Given the description of an element on the screen output the (x, y) to click on. 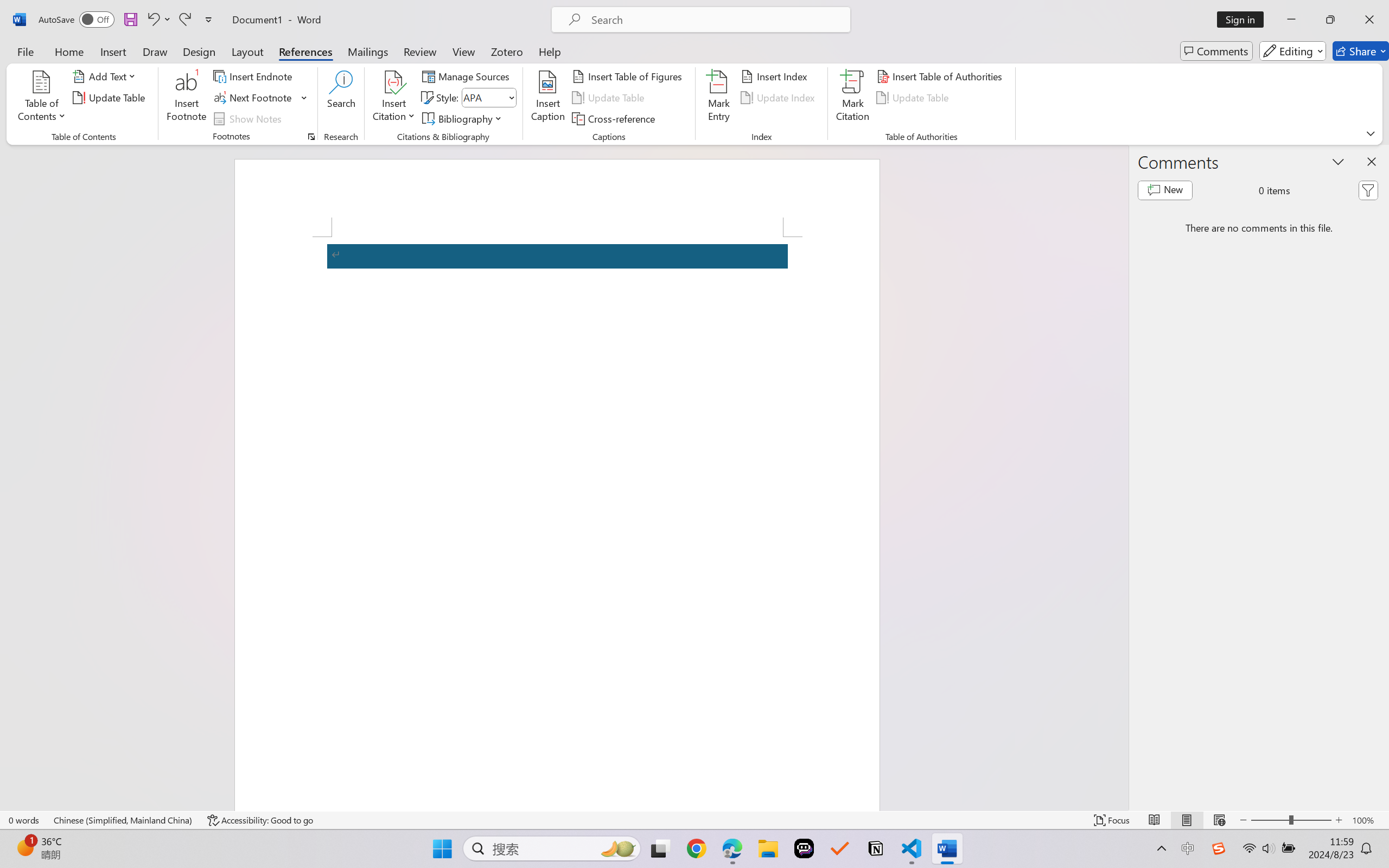
Insert Endnote (253, 75)
Undo Apply Quick Style Set (158, 19)
Insert Index... (775, 75)
New comment (1165, 190)
